Given the description of an element on the screen output the (x, y) to click on. 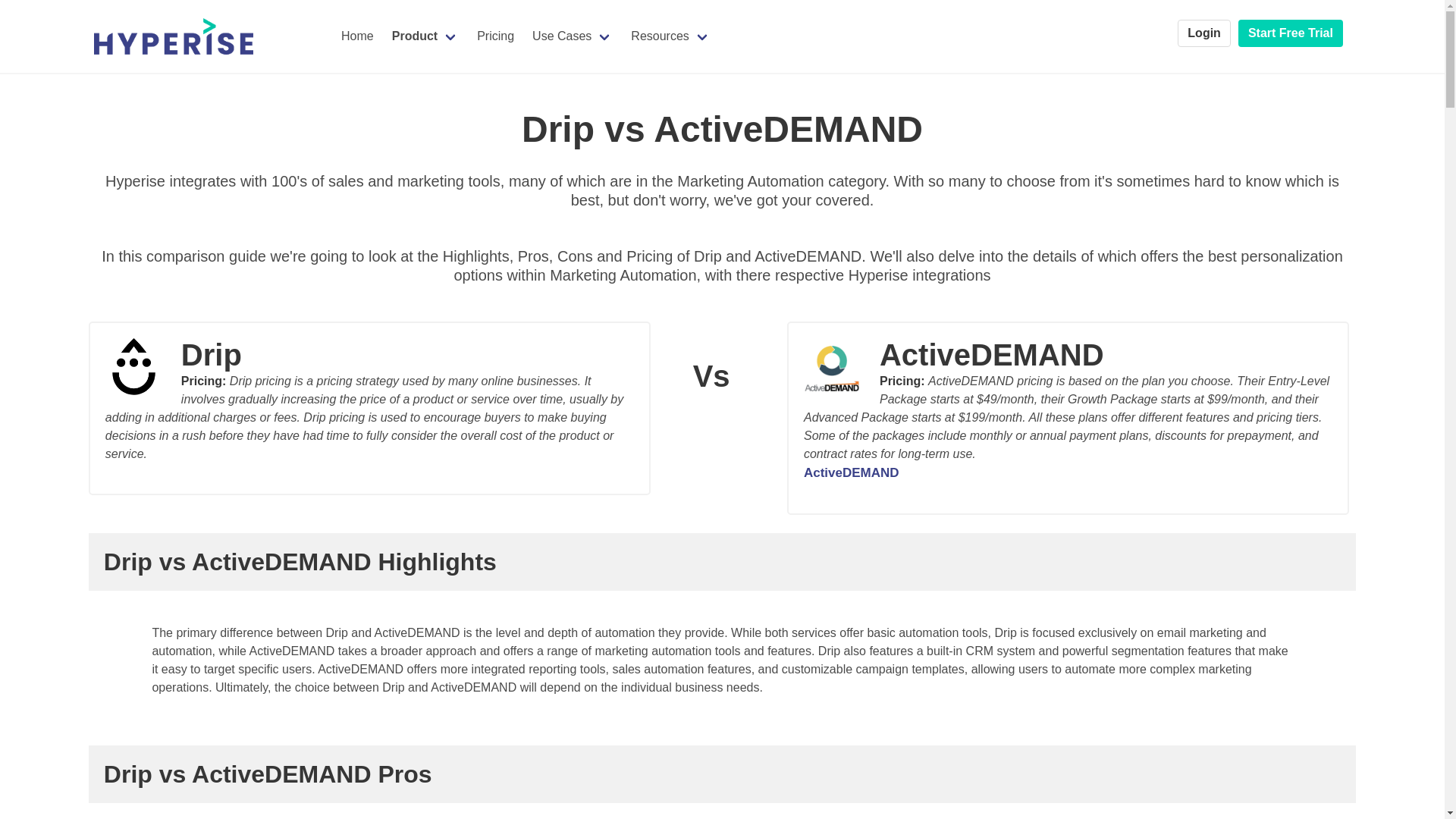
Login (1203, 32)
Pricing (494, 36)
Product (424, 36)
Home (356, 36)
Start Free Trial (1290, 32)
Drip logo (142, 366)
ActiveDEMAND (1067, 362)
Resources (670, 36)
ActiveDEMAND (851, 472)
Use Cases (571, 36)
